Given the description of an element on the screen output the (x, y) to click on. 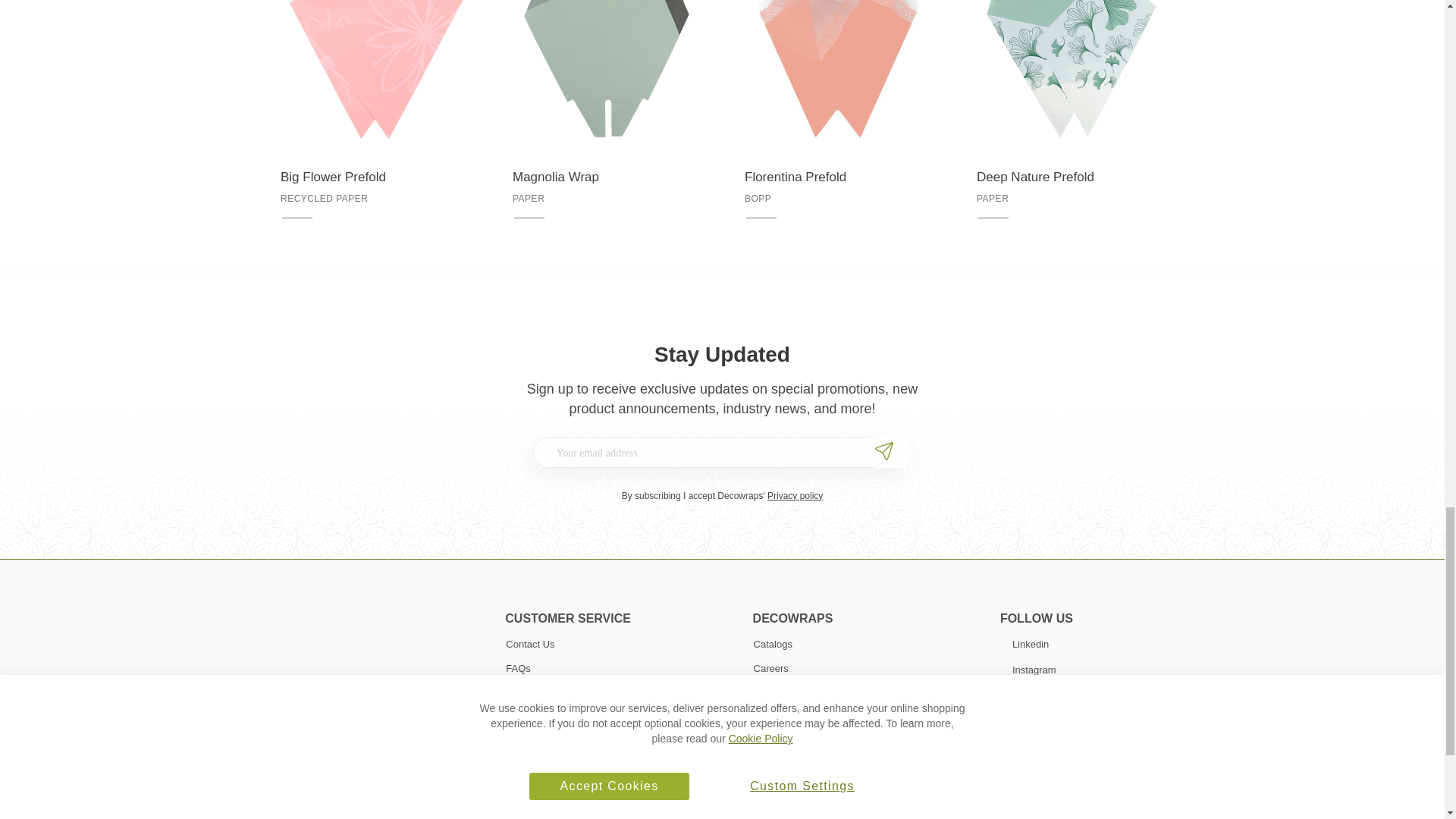
Florentina Prefold (837, 176)
Subscribe (885, 452)
Big Flower Prefold (374, 176)
Deep Nature Prefold (1069, 176)
Magnolia Wrap (605, 176)
